Given the description of an element on the screen output the (x, y) to click on. 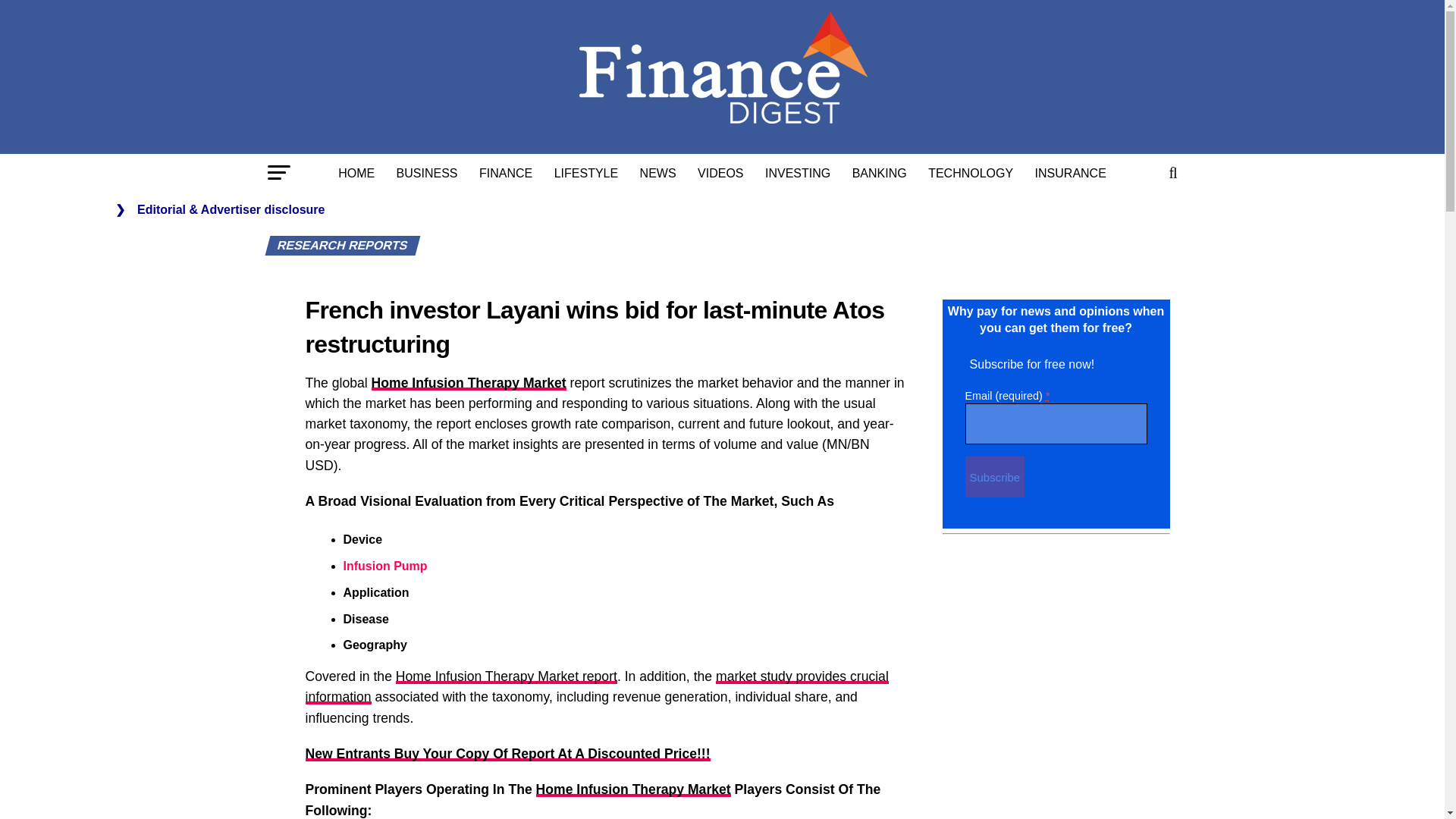
Business (427, 173)
BUSINESS (427, 173)
News (657, 173)
LIFESTYLE (585, 173)
VIDEOS (720, 173)
HOME (356, 173)
Subscribe (994, 476)
FINANCE (505, 173)
Lifestyle (585, 173)
NEWS (657, 173)
Finance (505, 173)
Home (356, 173)
